Given the description of an element on the screen output the (x, y) to click on. 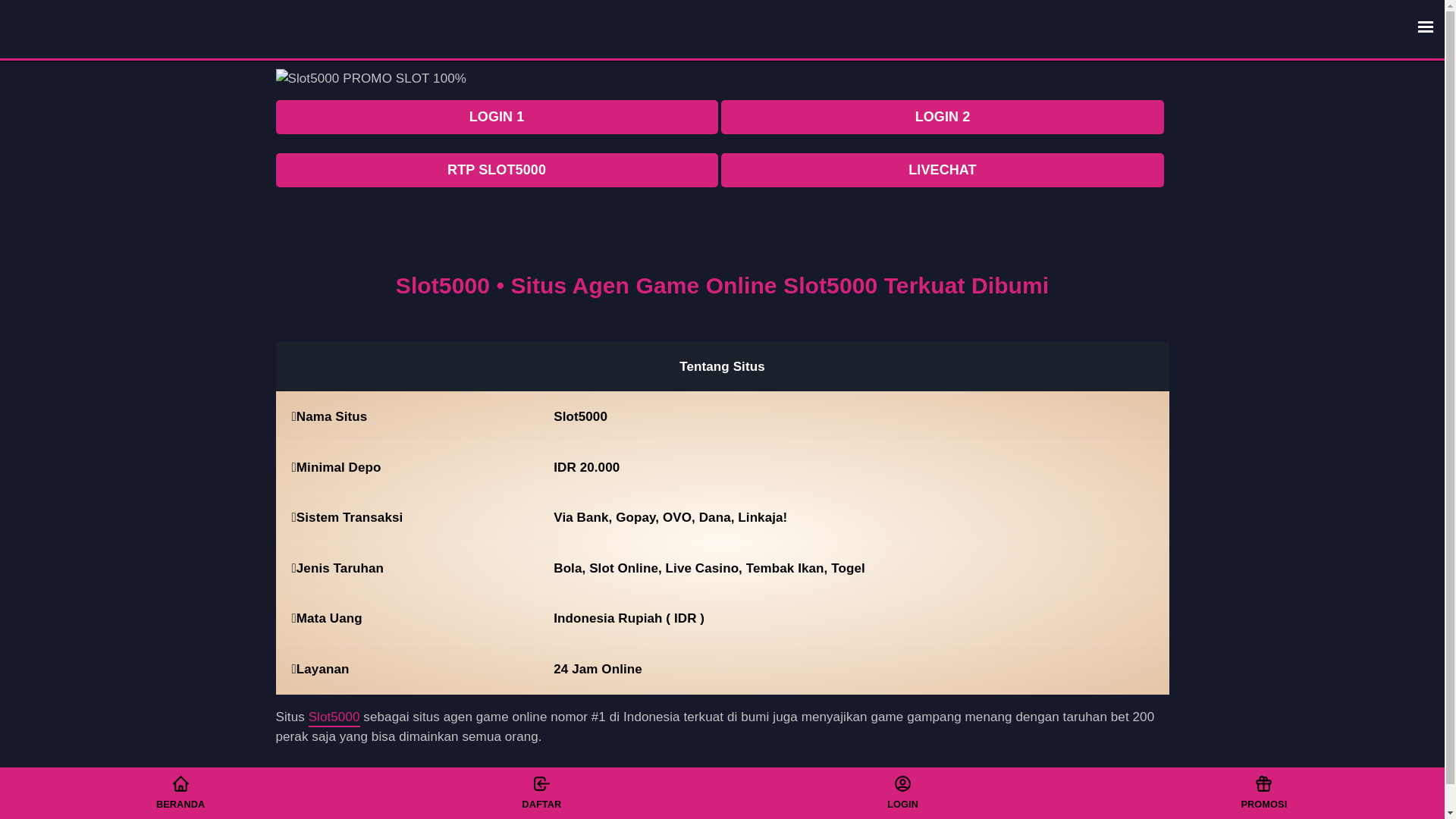
LIVECHAT (941, 170)
LOGIN 2 (941, 116)
Slot5000 (333, 718)
LOGIN 1 (496, 116)
PROMOSI (1262, 792)
BERANDA (180, 792)
Live Chat Slot5000 (1262, 792)
Promotion (903, 792)
LOGIN (903, 792)
DAFTAR (541, 792)
RTP SLOT5000 (496, 170)
